Given the description of an element on the screen output the (x, y) to click on. 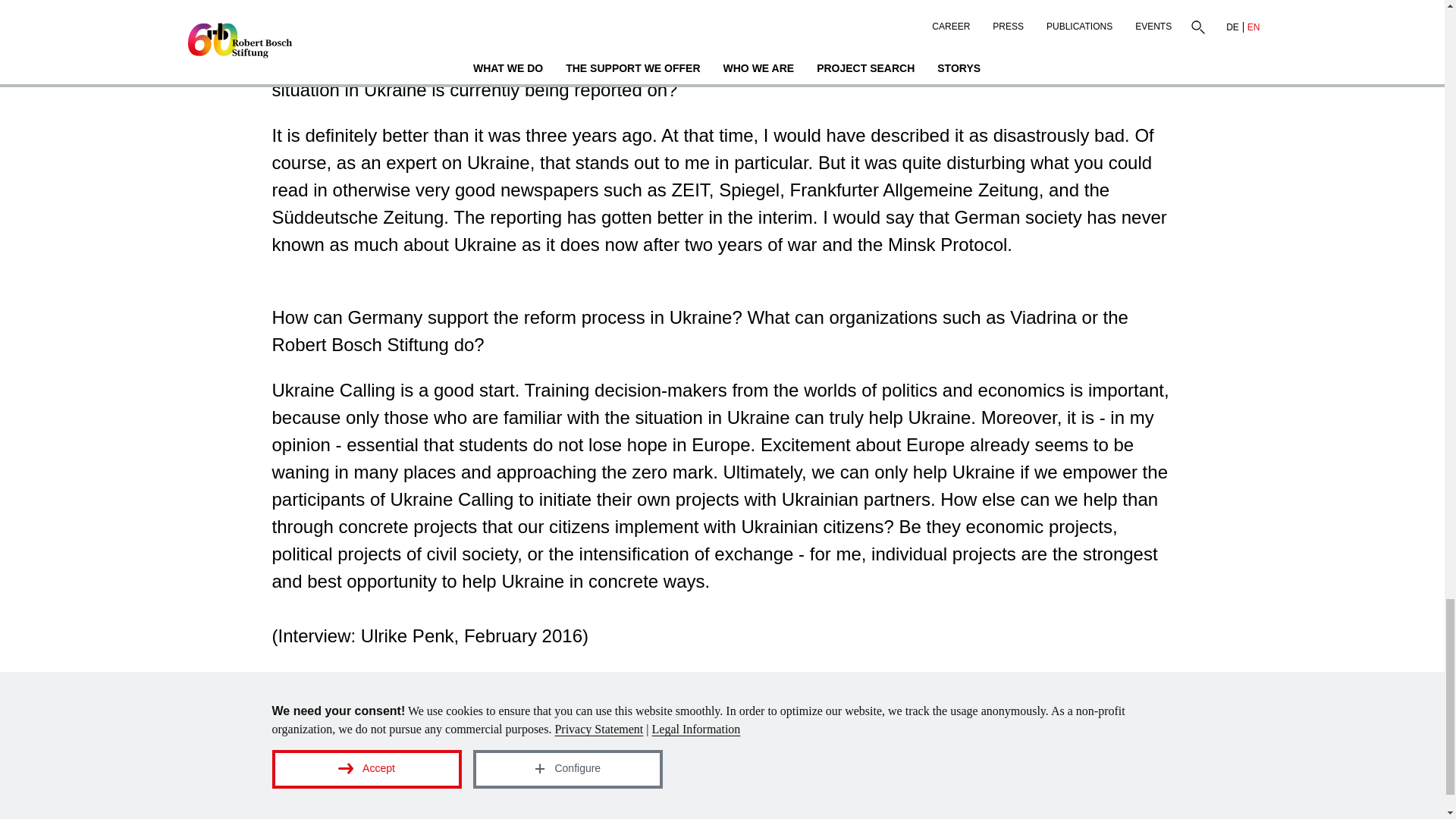
Submit registration (1080, 760)
instagram (450, 759)
facebook (343, 759)
Linkedin (287, 759)
Enter your e-mail here (853, 760)
youtube (395, 759)
